Given the description of an element on the screen output the (x, y) to click on. 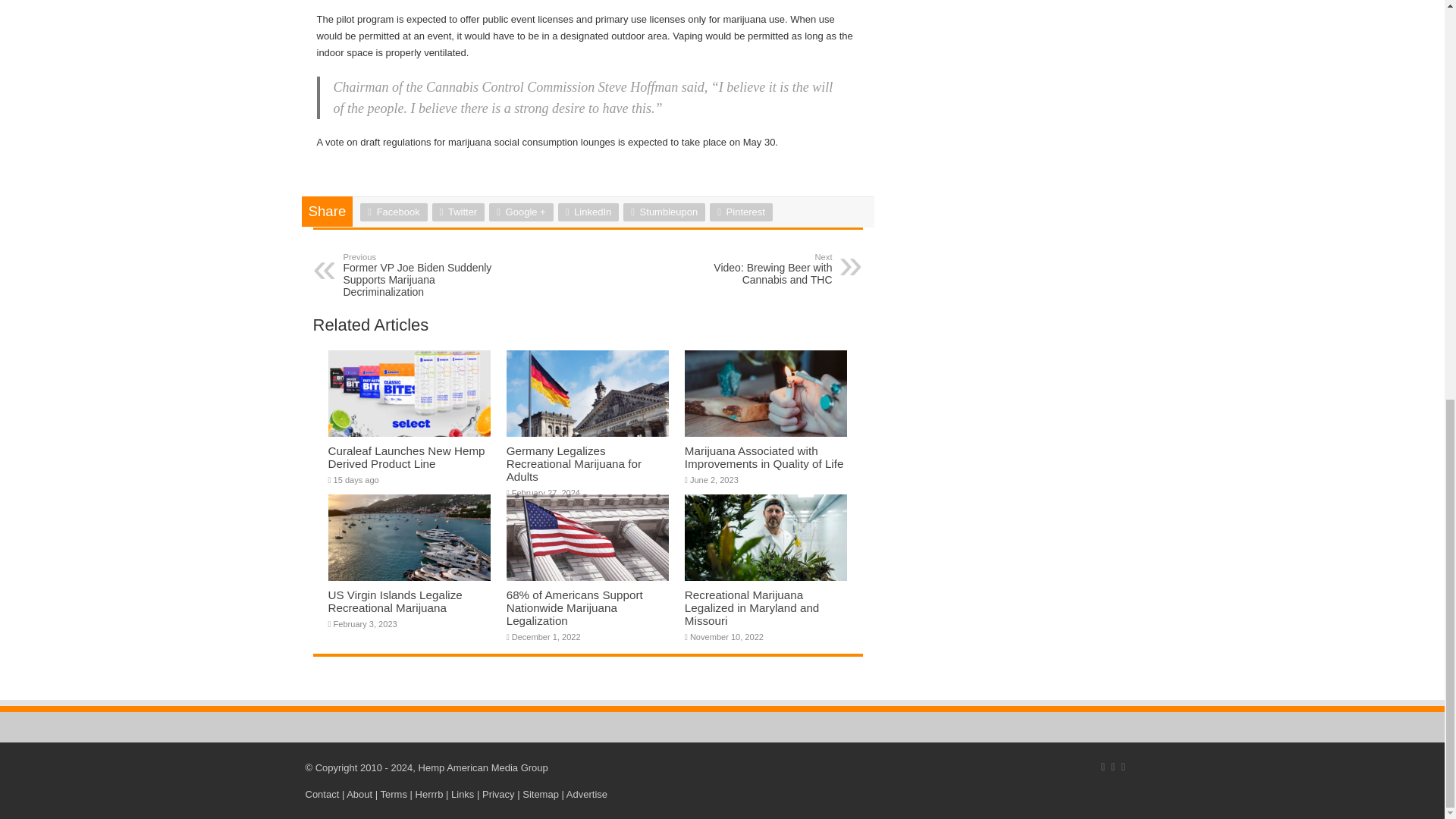
Twitter (458, 212)
Scroll To Top (1421, 100)
Facebook (392, 212)
Search Cannabis Near Me (429, 794)
